Given the description of an element on the screen output the (x, y) to click on. 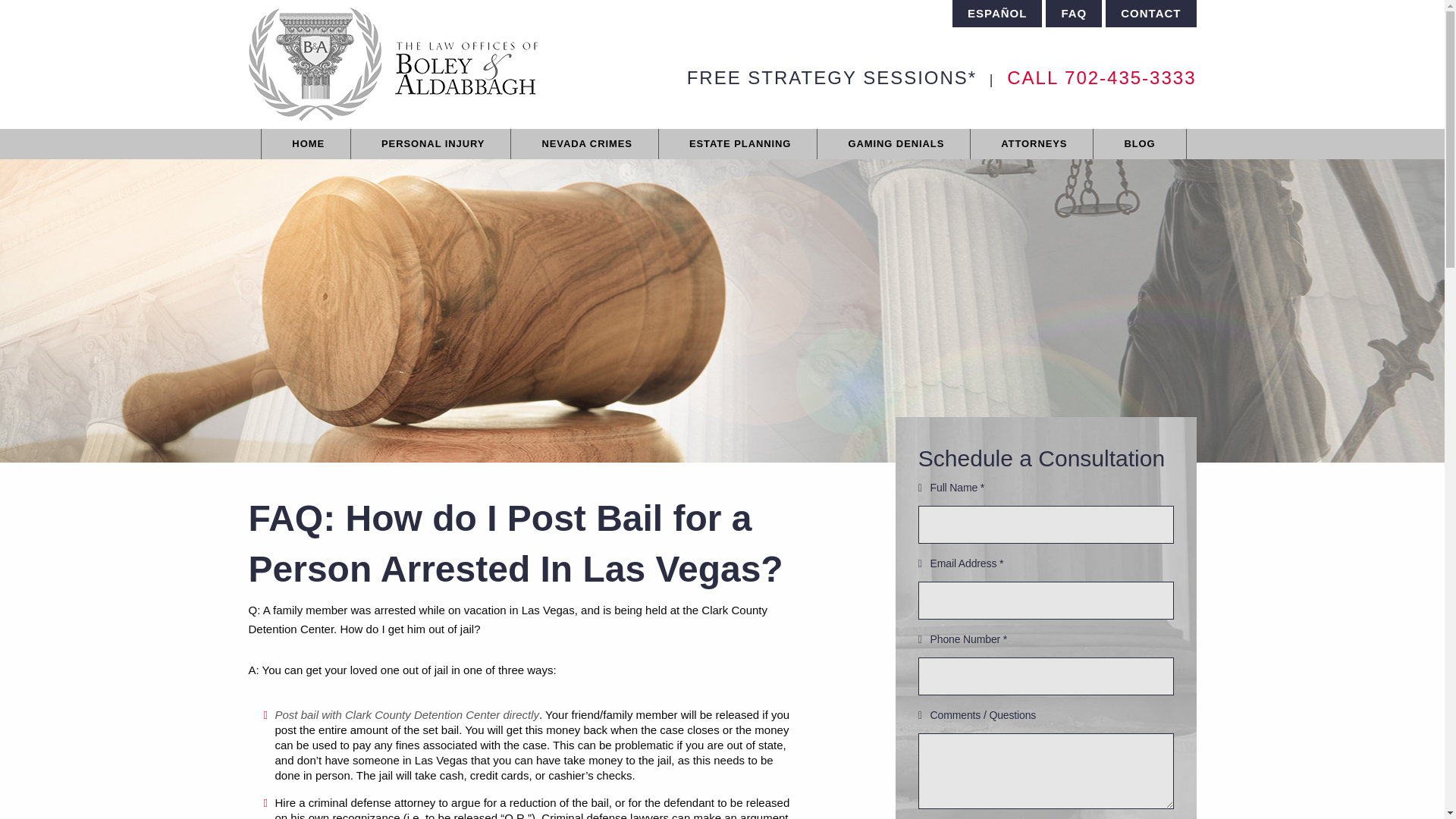
FAQ (1073, 13)
CONTACT (1150, 13)
NEVADA CRIMES (586, 143)
HOME (307, 143)
702-435-3333 (1129, 77)
PERSONAL INJURY (432, 143)
